Given the description of an element on the screen output the (x, y) to click on. 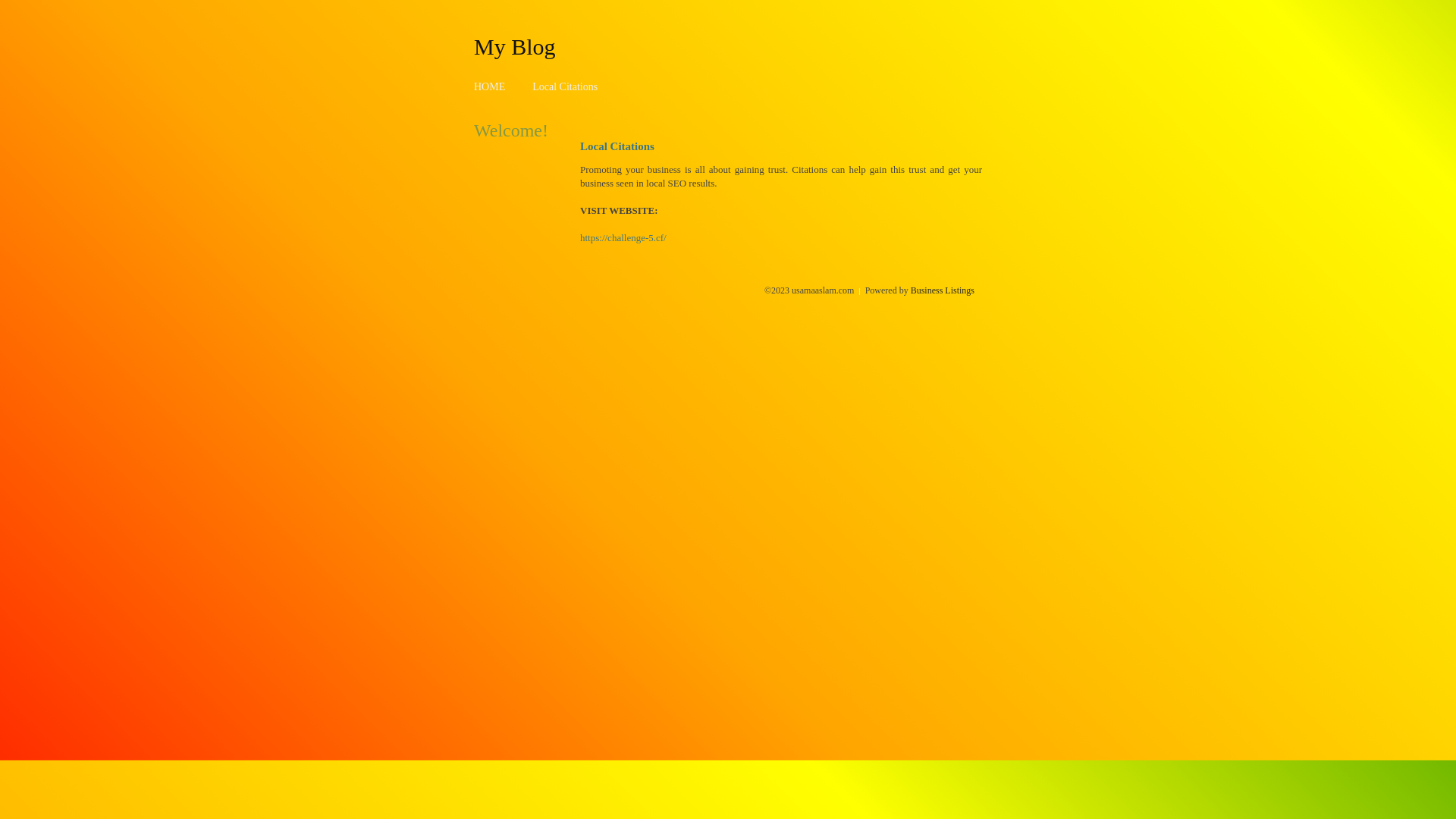
HOME Element type: text (489, 86)
My Blog Element type: text (514, 46)
Business Listings Element type: text (942, 290)
Local Citations Element type: text (564, 86)
https://challenge-5.cf/ Element type: text (623, 237)
